Given the description of an element on the screen output the (x, y) to click on. 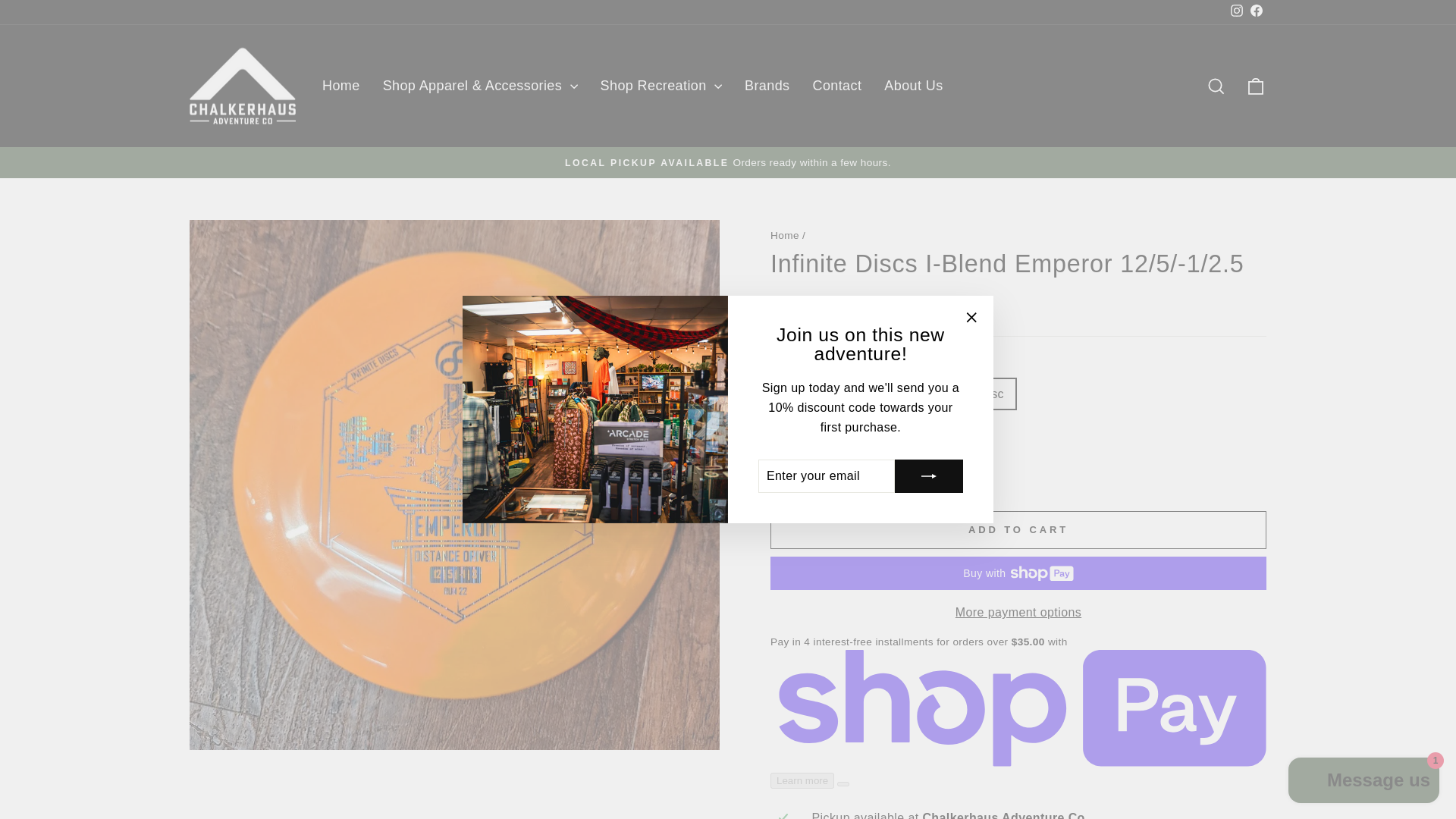
Back to the frontpage (784, 235)
icon-bag-minimal (1255, 86)
icon-search (1216, 86)
Shopify online store chat (1364, 781)
icon-X (970, 317)
instagram (1236, 10)
